Given the description of an element on the screen output the (x, y) to click on. 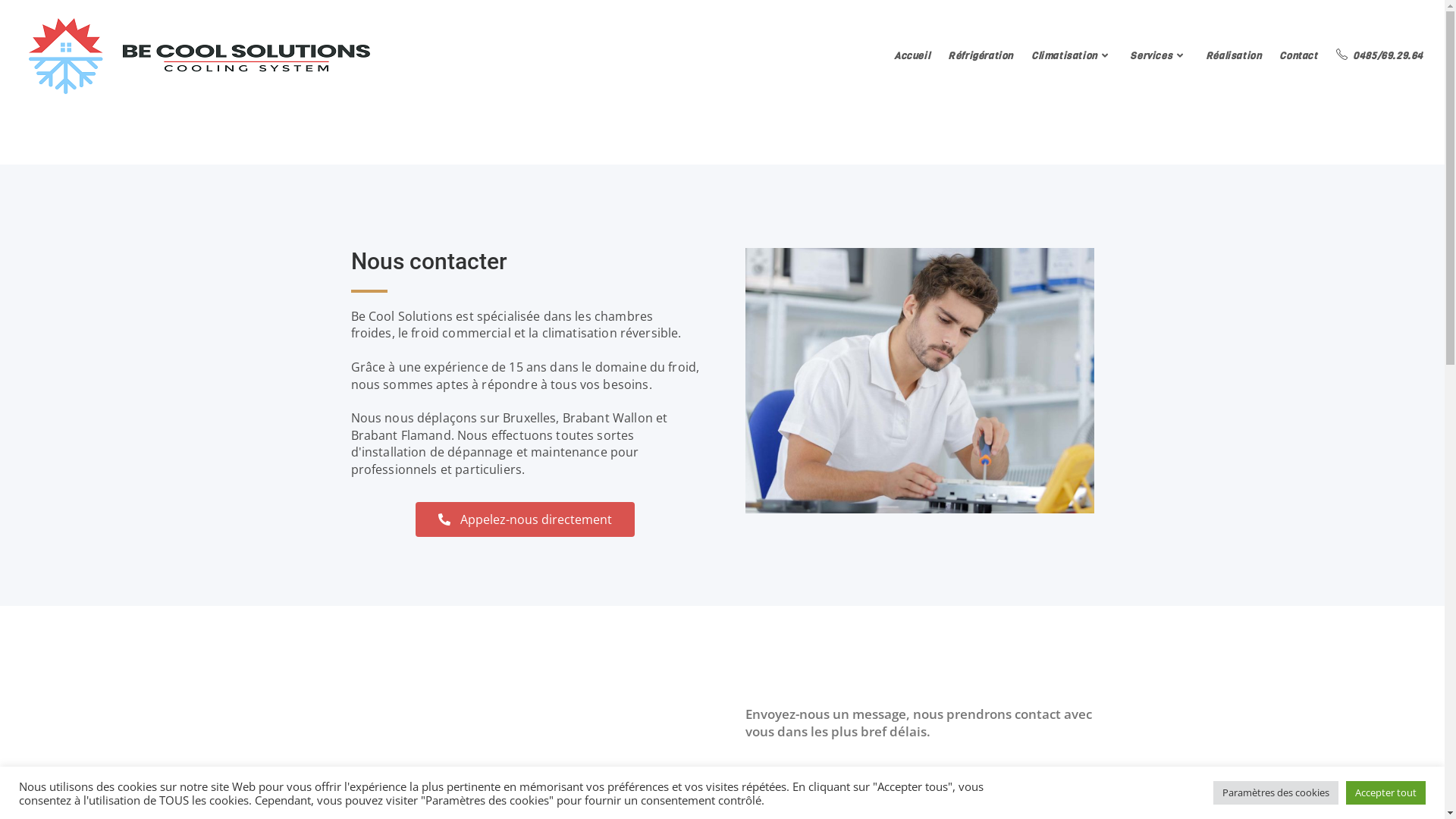
Contact Element type: text (1298, 55)
Accepter tout Element type: text (1385, 792)
Accueil Element type: text (911, 55)
Climatisation Element type: text (1071, 55)
0485/69.29.64 Element type: text (1379, 55)
Services Element type: text (1157, 55)
Appelez-nous directement Element type: text (524, 519)
